Given the description of an element on the screen output the (x, y) to click on. 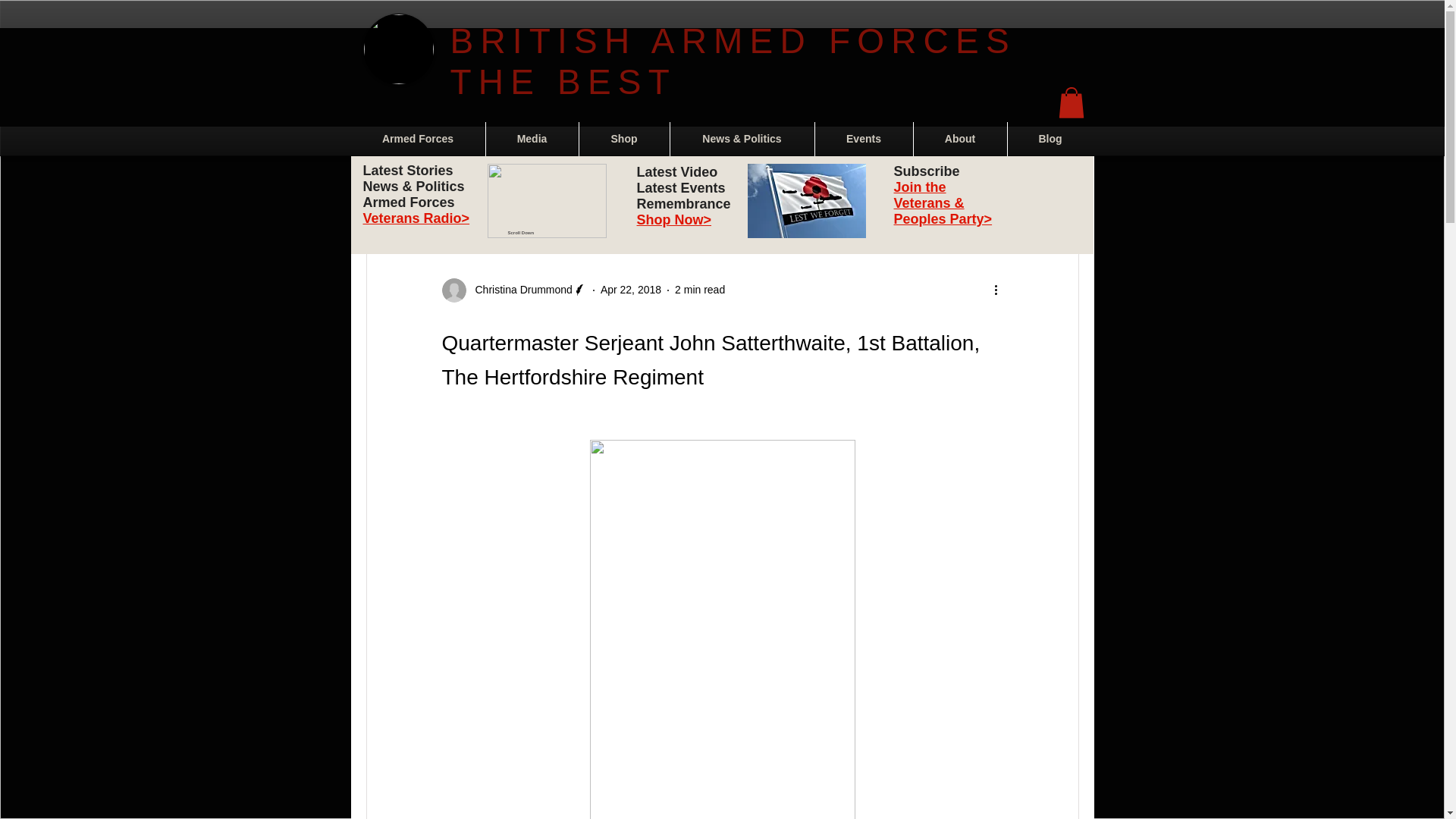
Events (862, 139)
Marion Rogers (683, 186)
Remembrance (525, 186)
Armed Forces (417, 139)
Christina Drummond (518, 289)
Charities (768, 186)
All Posts (385, 186)
2 min read (700, 289)
Shop (624, 139)
Events (604, 186)
About (959, 139)
News (448, 186)
Blog (1050, 139)
BRITISH ARMED FORCES THE BEST  (732, 61)
Apr 22, 2018 (630, 289)
